Given the description of an element on the screen output the (x, y) to click on. 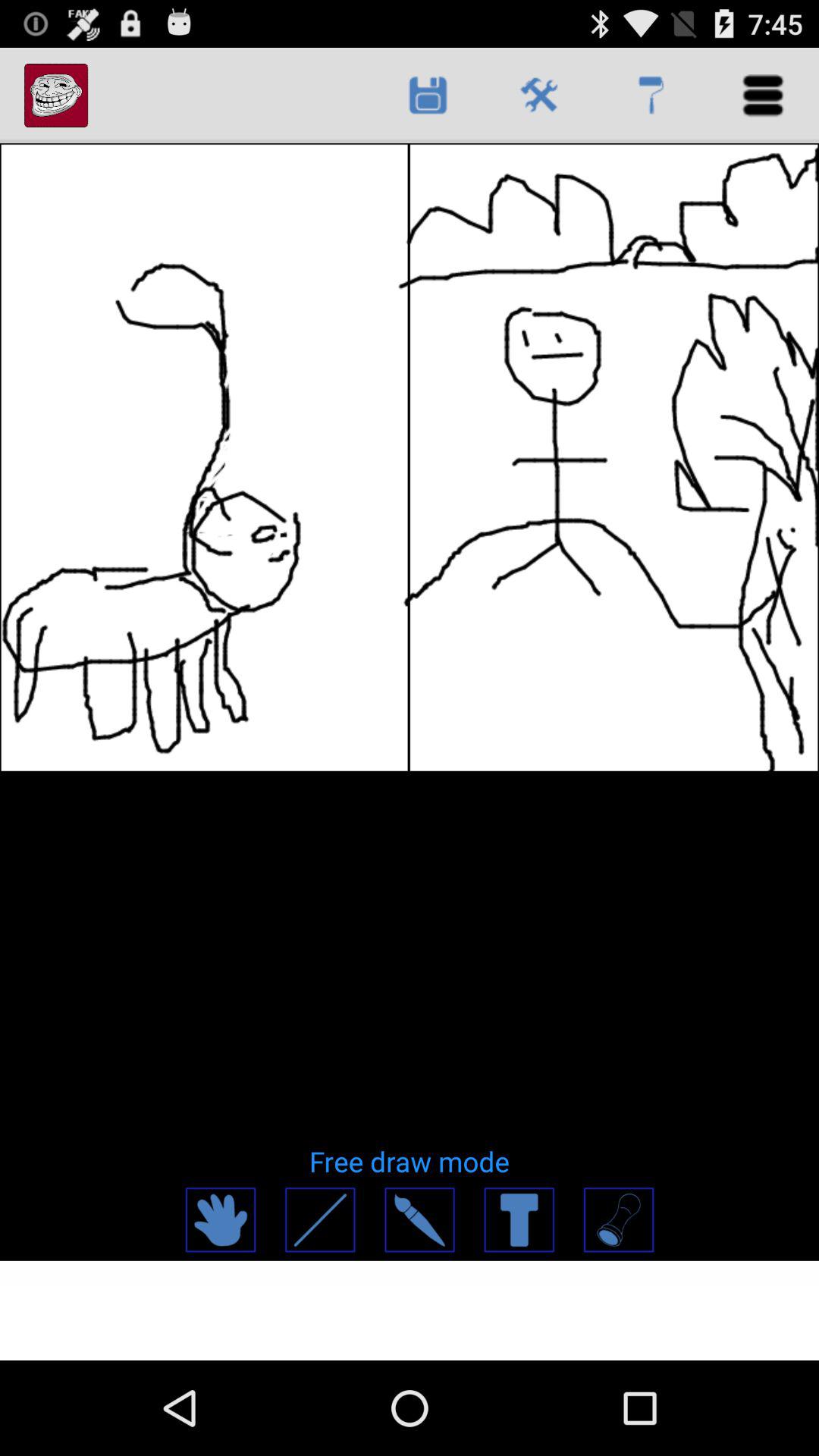
geometric shapes (618, 1219)
